Given the description of an element on the screen output the (x, y) to click on. 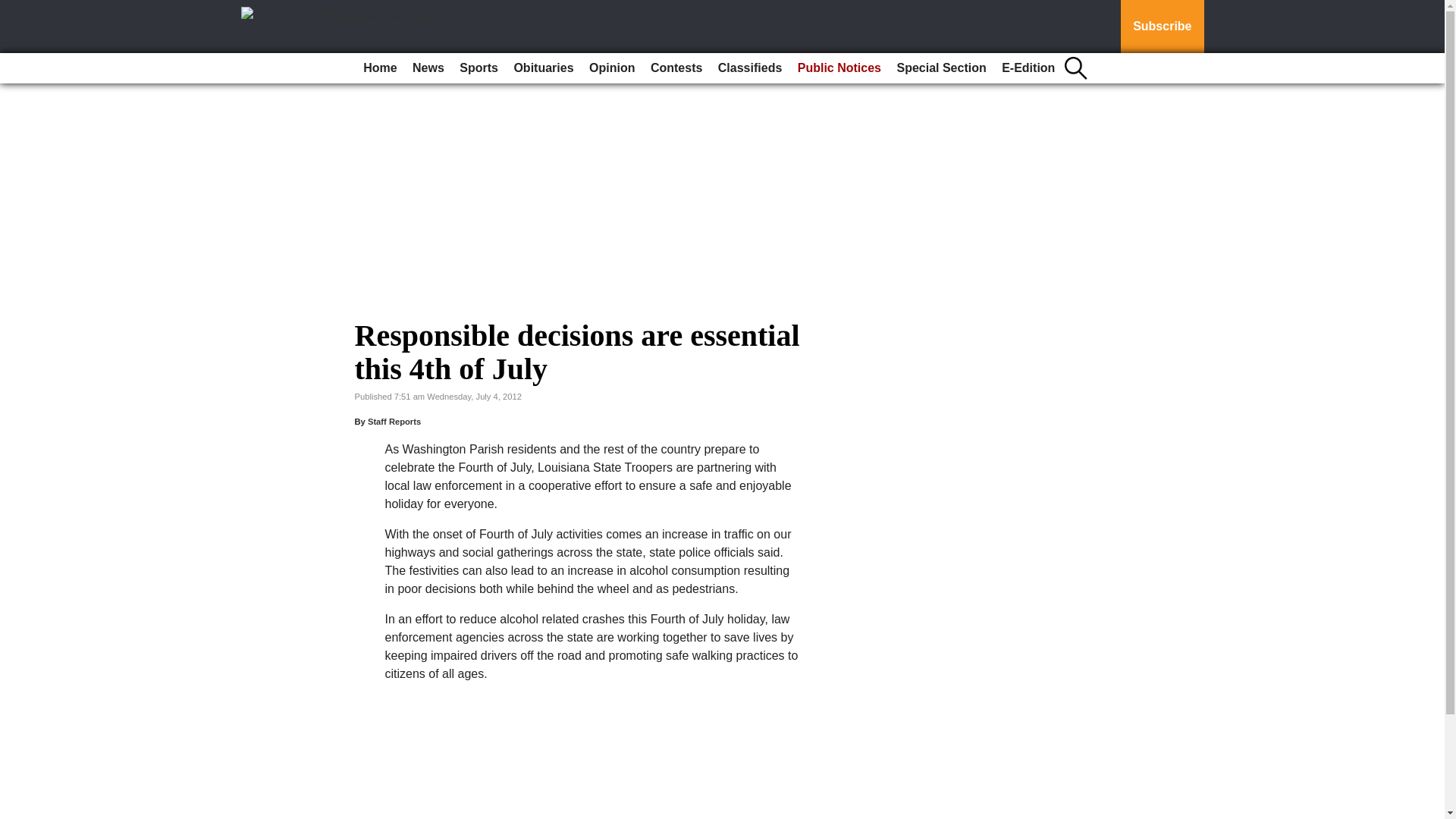
Opinion (611, 68)
Home (379, 68)
Staff Reports (394, 420)
Contests (676, 68)
Subscribe (1162, 26)
Sports (477, 68)
Public Notices (839, 68)
News (427, 68)
Special Section (940, 68)
Obituaries (542, 68)
